Given the description of an element on the screen output the (x, y) to click on. 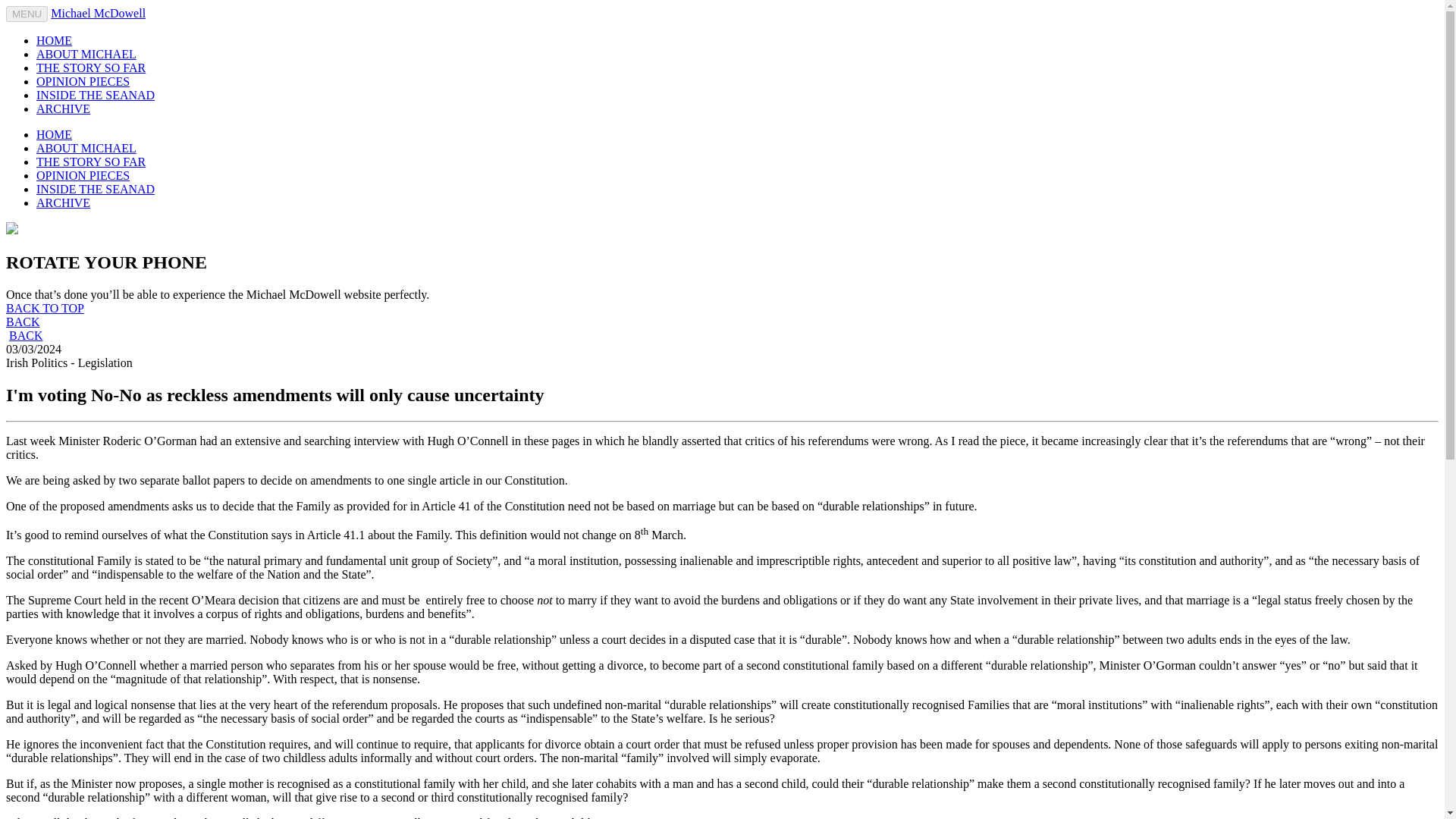
HOME (53, 133)
ARCHIVE (63, 108)
MENU (26, 13)
In My Opinion Collection (82, 174)
INSIDE THE SEANAD (95, 94)
HOME (53, 40)
In My Opinion Collection (82, 81)
OPINION PIECES (82, 174)
THE STORY SO FAR (90, 161)
The Story So Far (90, 161)
BACK TO TOP (44, 308)
ABOUT MICHAEL (86, 147)
INSIDE THE SEANAD (95, 188)
OPINION PIECES (82, 81)
About Michael McDowell (86, 53)
